Given the description of an element on the screen output the (x, y) to click on. 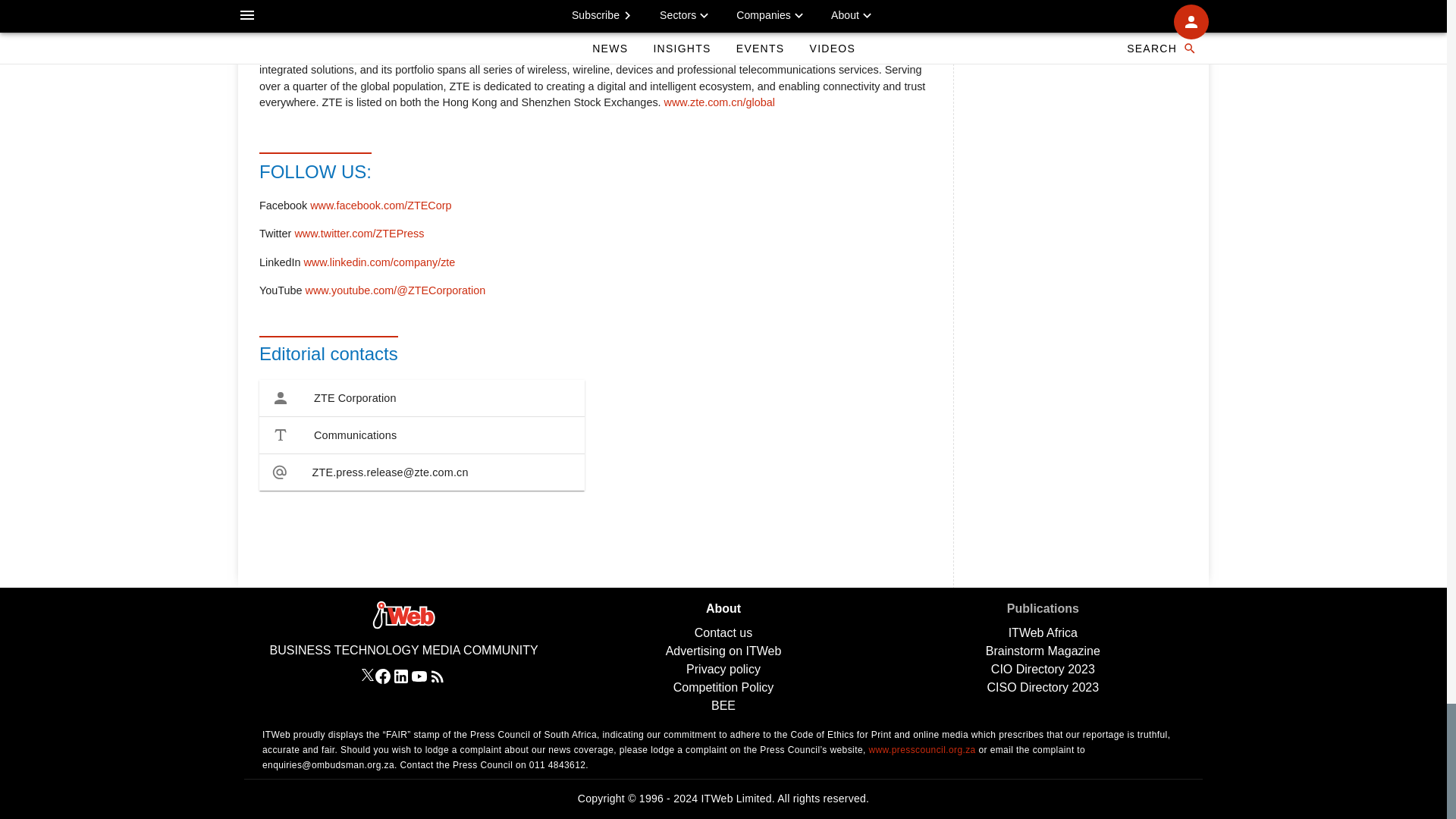
ZTE (288, 17)
